Given the description of an element on the screen output the (x, y) to click on. 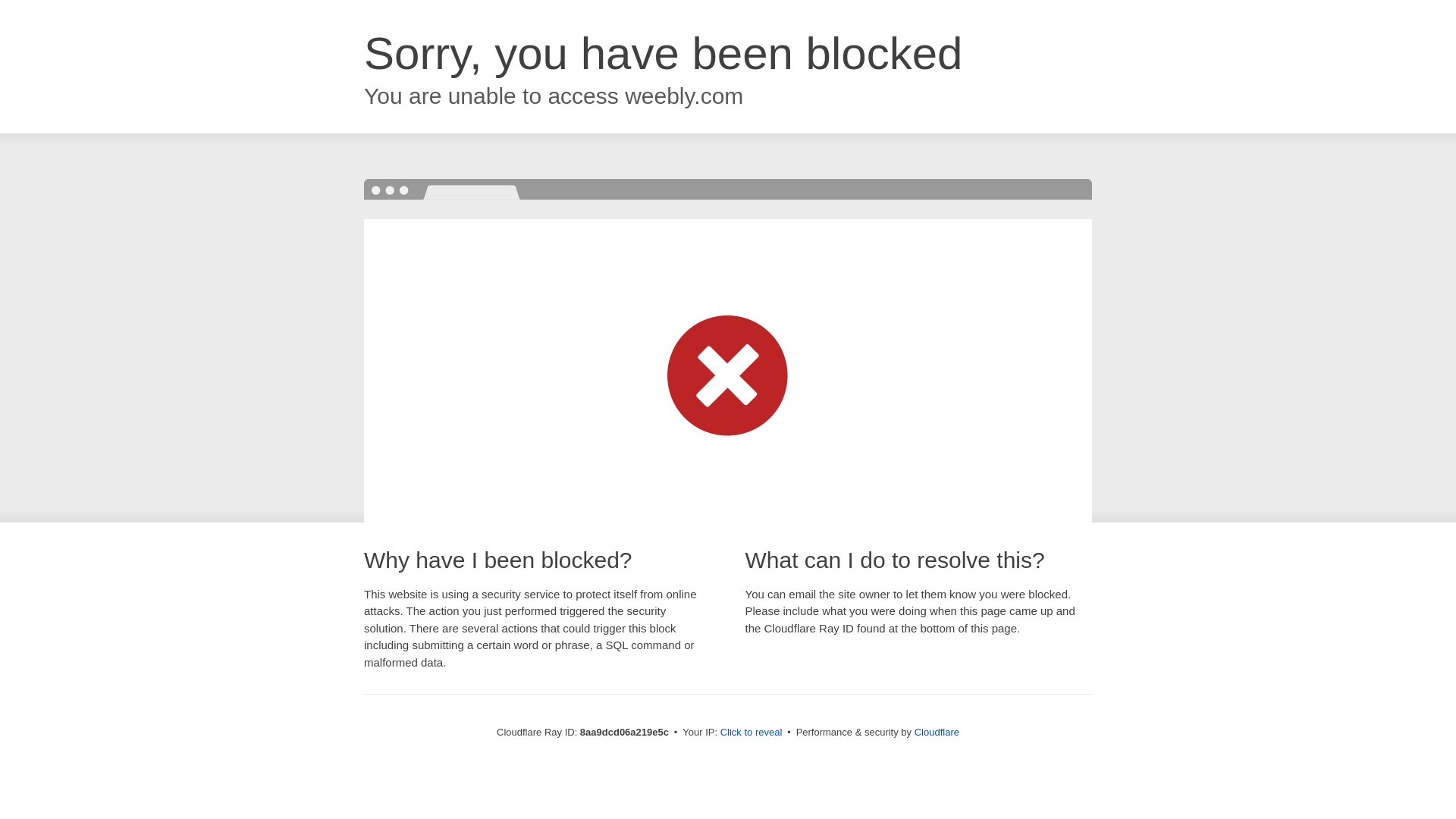
Click to reveal (751, 732)
Cloudflare (936, 731)
